Given the description of an element on the screen output the (x, y) to click on. 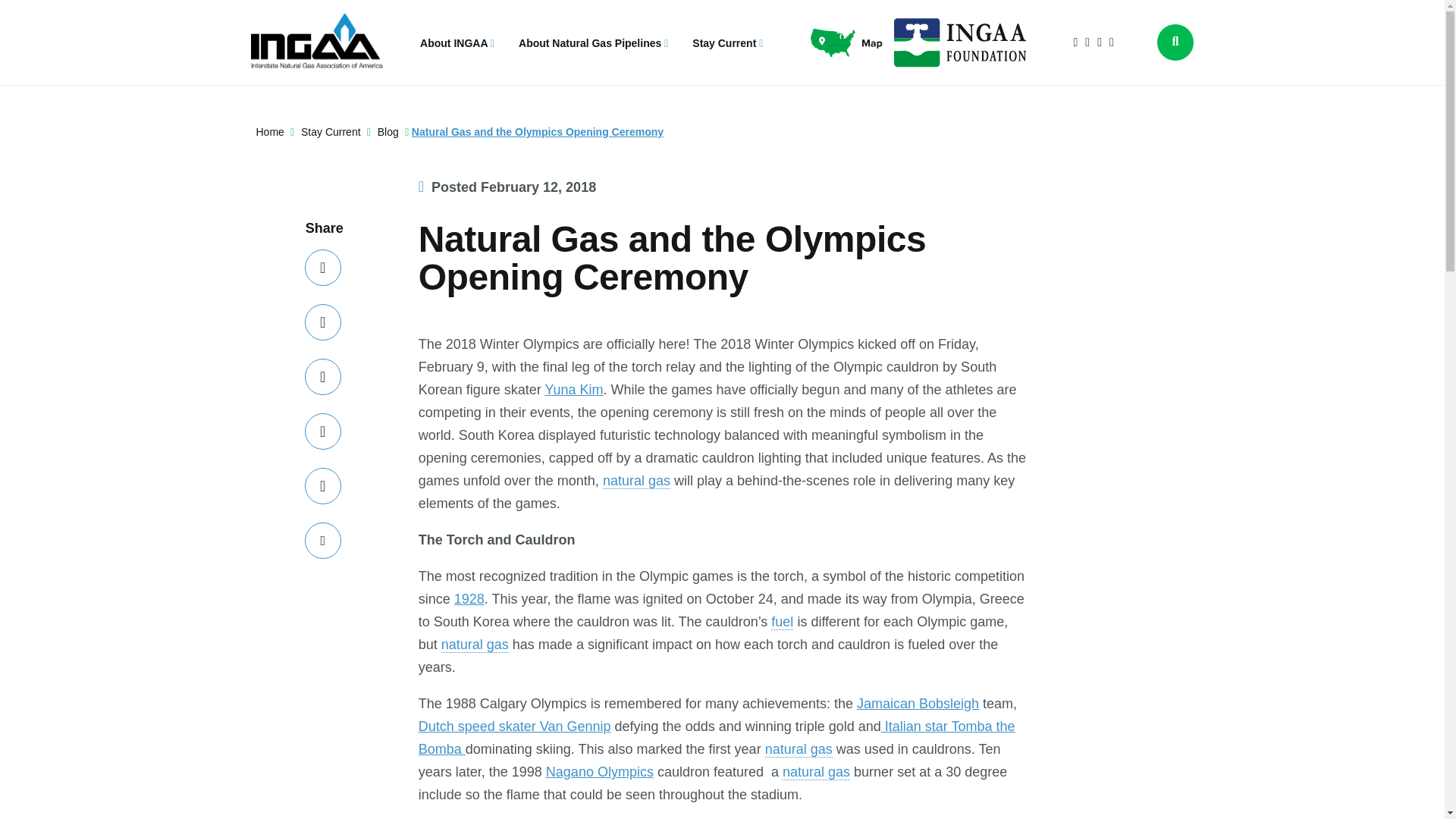
About INGAA (457, 42)
Facebook (1086, 42)
Twitter (1076, 42)
LinkedIn (1099, 42)
YouTube (1111, 42)
Stay Current (727, 42)
About Natural Gas Pipelines (593, 42)
